Given the description of an element on the screen output the (x, y) to click on. 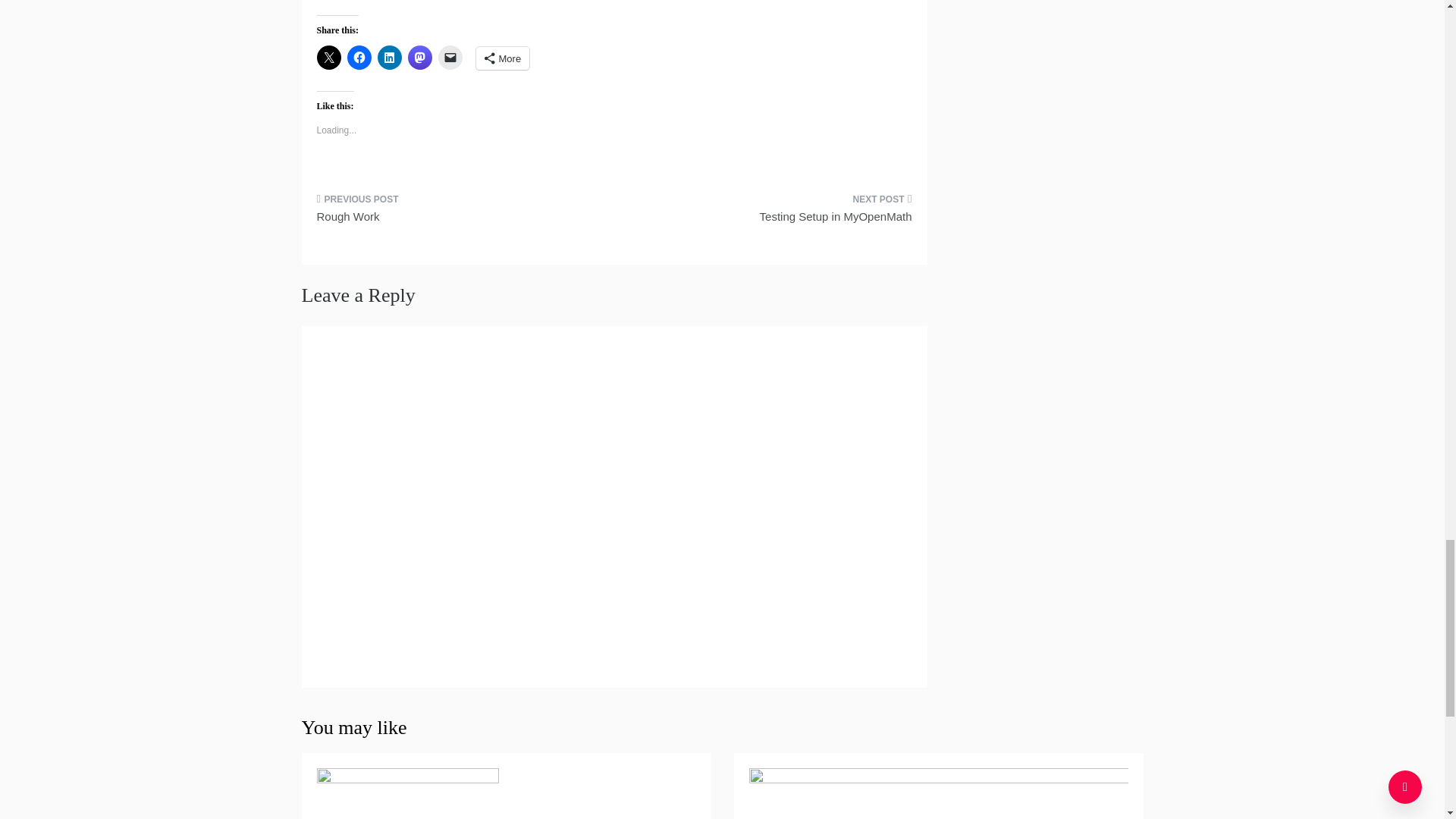
Click to email a link to a friend (450, 57)
Testing Setup in MyOpenMath (769, 212)
Click to share on X (328, 57)
Click to share on Facebook (359, 57)
Rough Work (460, 212)
Click to share on Mastodon (419, 57)
More (502, 57)
Click to share on LinkedIn (389, 57)
